Given the description of an element on the screen output the (x, y) to click on. 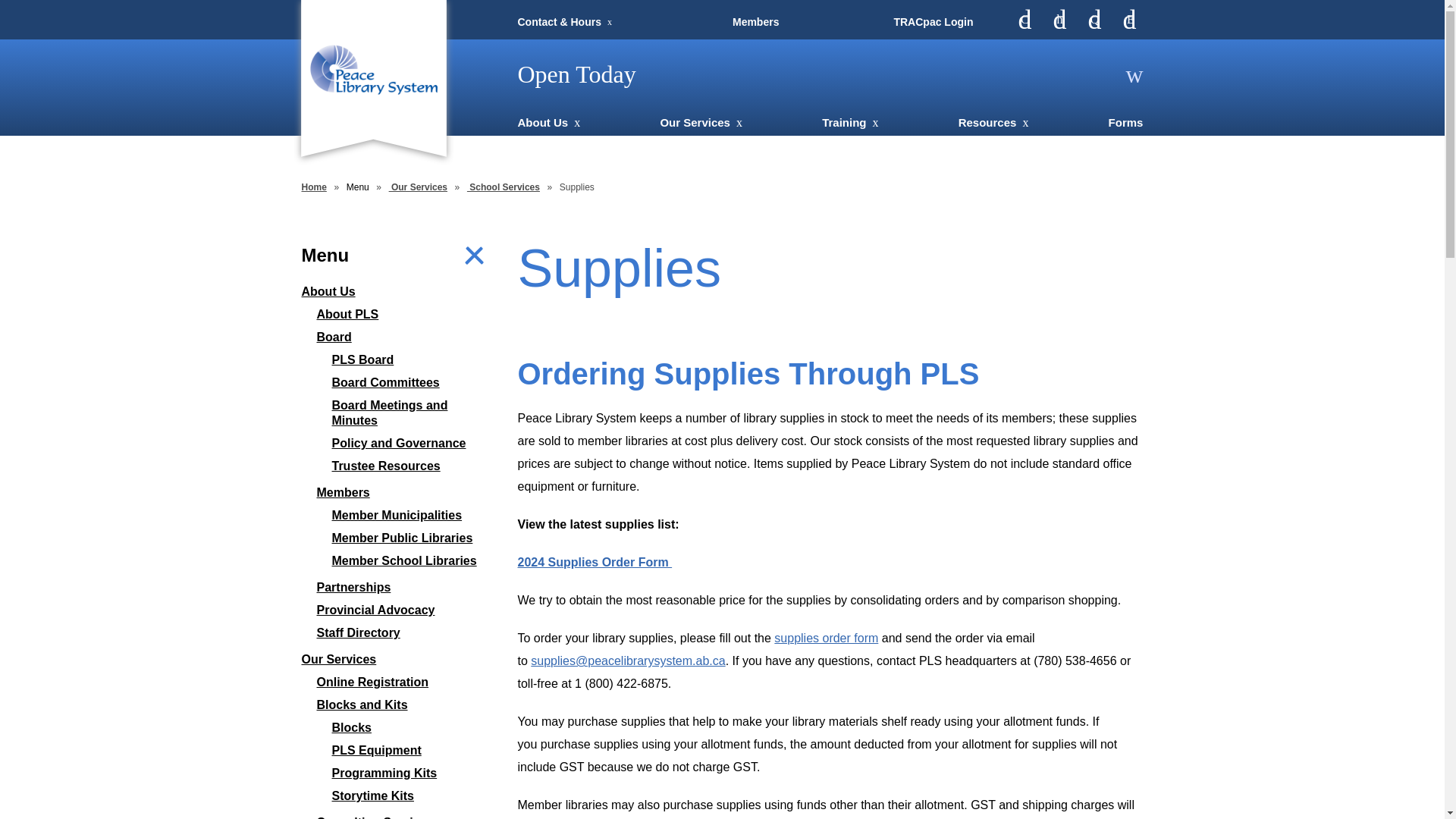
Members (755, 21)
About Us (547, 121)
Facebook (1024, 19)
Newsletter sign up (1129, 19)
Our Services (700, 121)
Youtube (1094, 19)
Training (849, 121)
Peace Library System (372, 69)
TRACpac Login (932, 21)
Instagram (1059, 19)
